Given the description of an element on the screen output the (x, y) to click on. 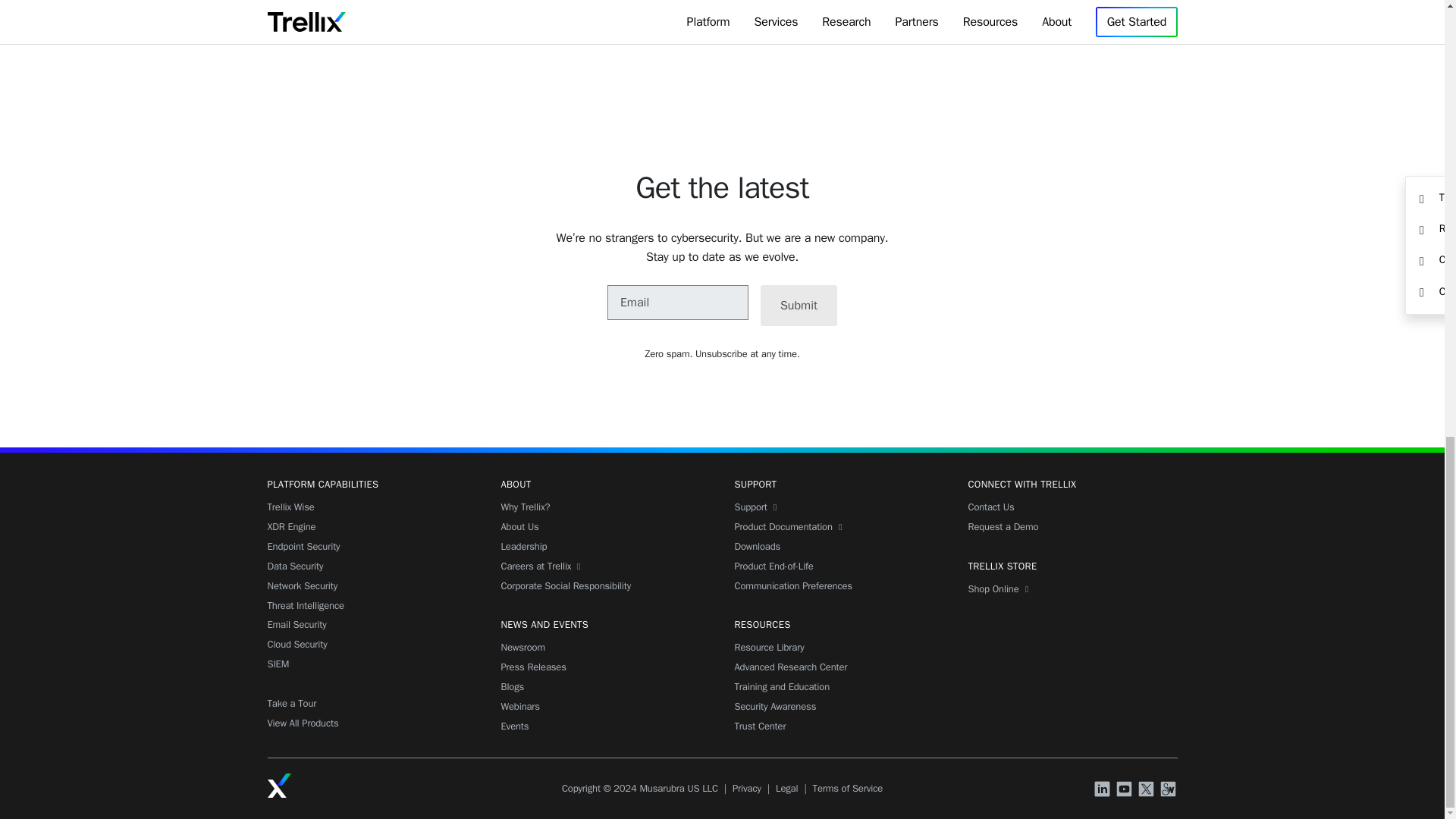
Trellix X (1147, 790)
Trellix LinkedIn (1103, 790)
Trellix YouTube (1125, 790)
Trellix (278, 785)
Soulful Work (1169, 790)
